Given the description of an element on the screen output the (x, y) to click on. 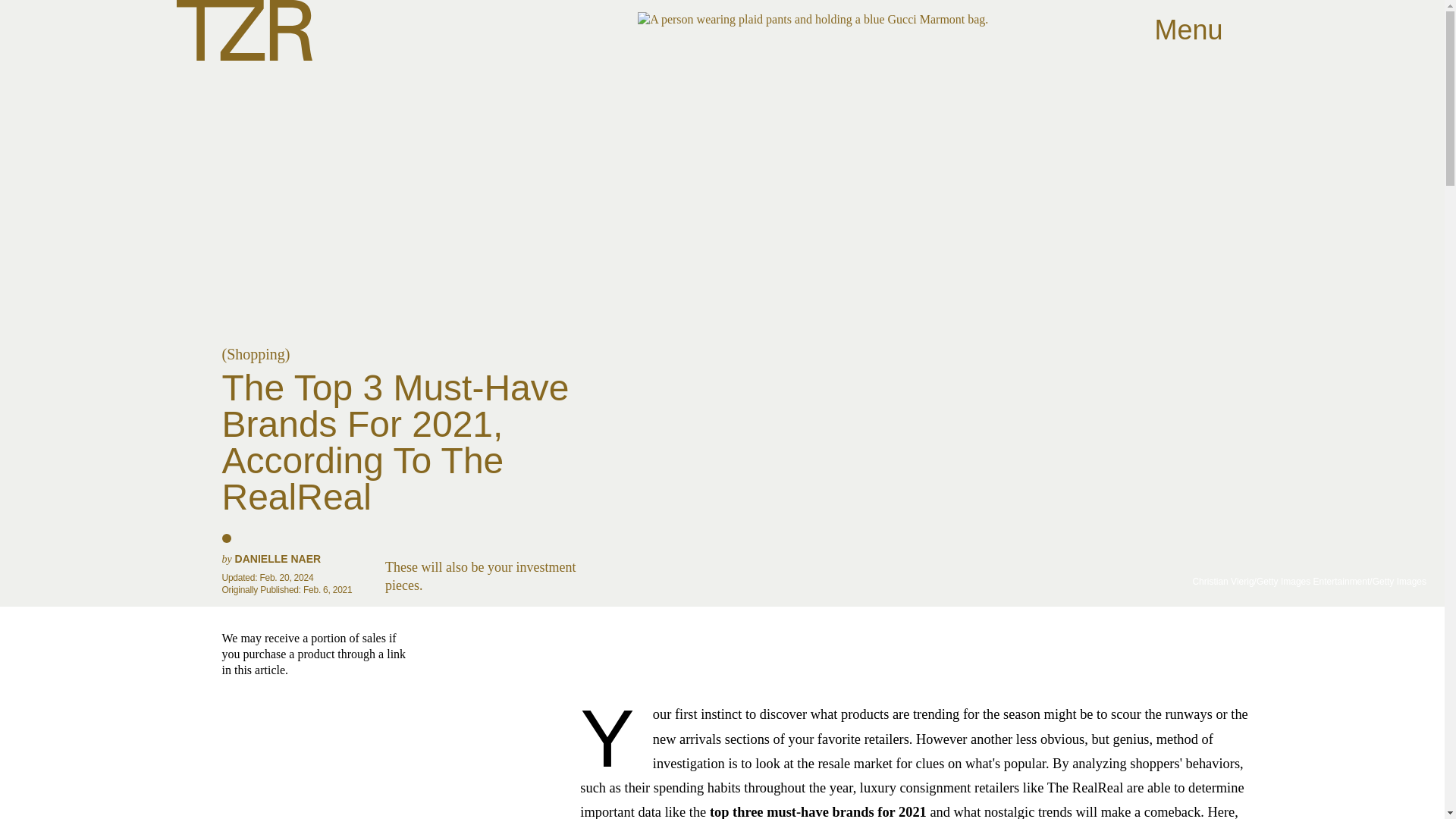
top three must-have brands for 2021 (816, 811)
The Zoe Report (243, 30)
